Given the description of an element on the screen output the (x, y) to click on. 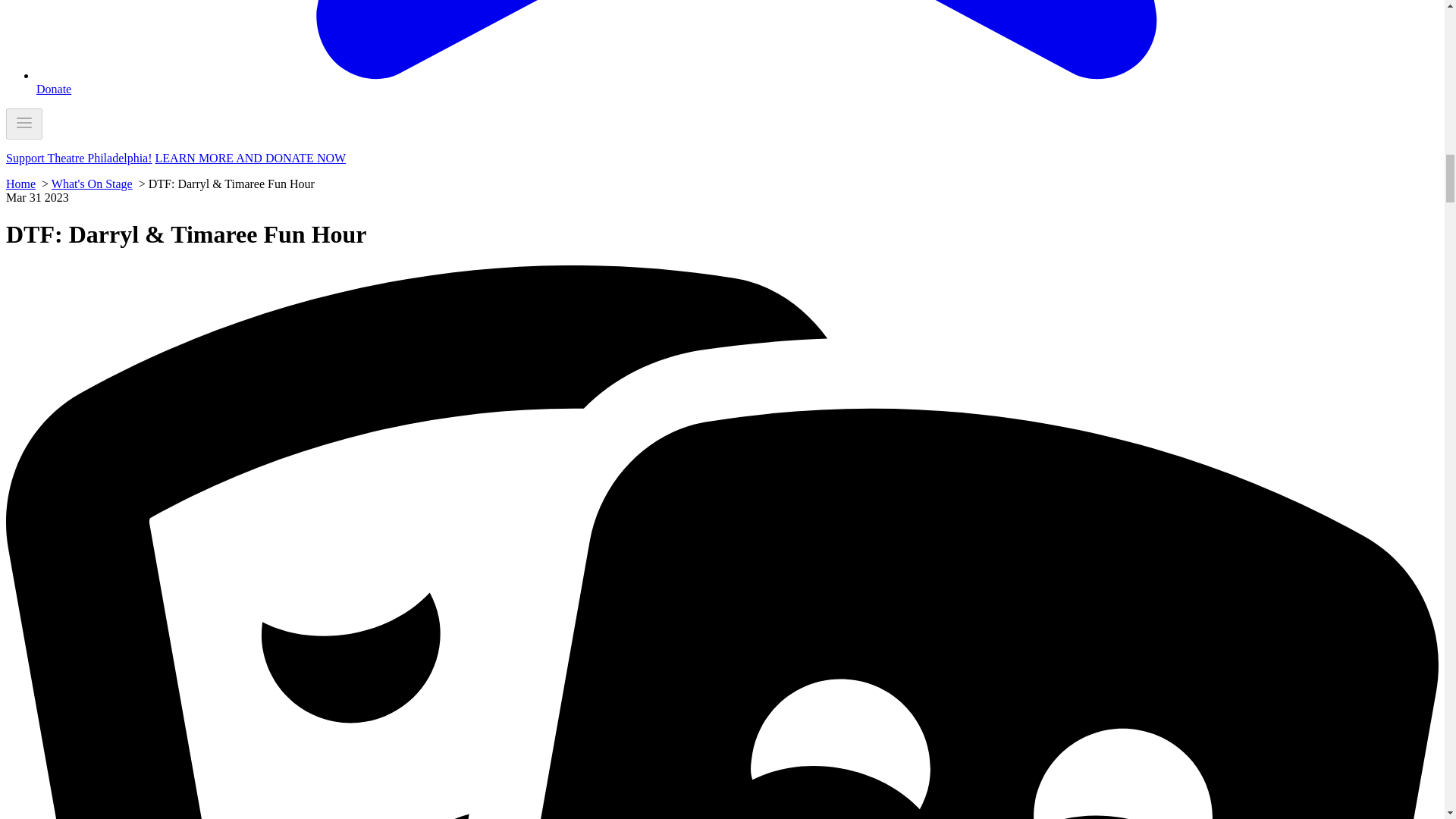
LEARN MORE AND DONATE NOW (250, 157)
Home (19, 183)
Support Theatre Philadelphia! (78, 157)
What's On Stage (91, 183)
